Given the description of an element on the screen output the (x, y) to click on. 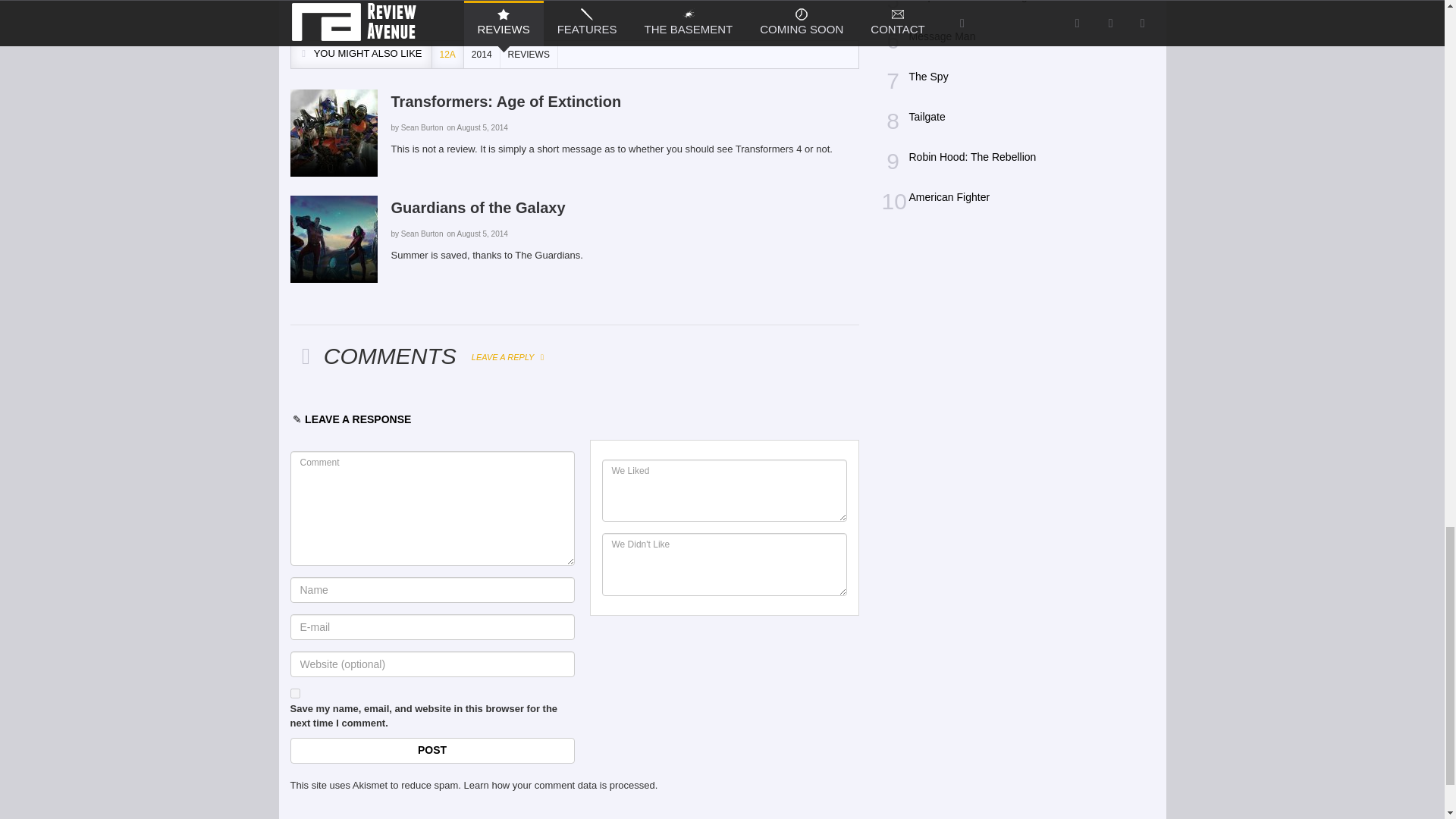
Post (431, 750)
yes (294, 693)
